Given the description of an element on the screen output the (x, y) to click on. 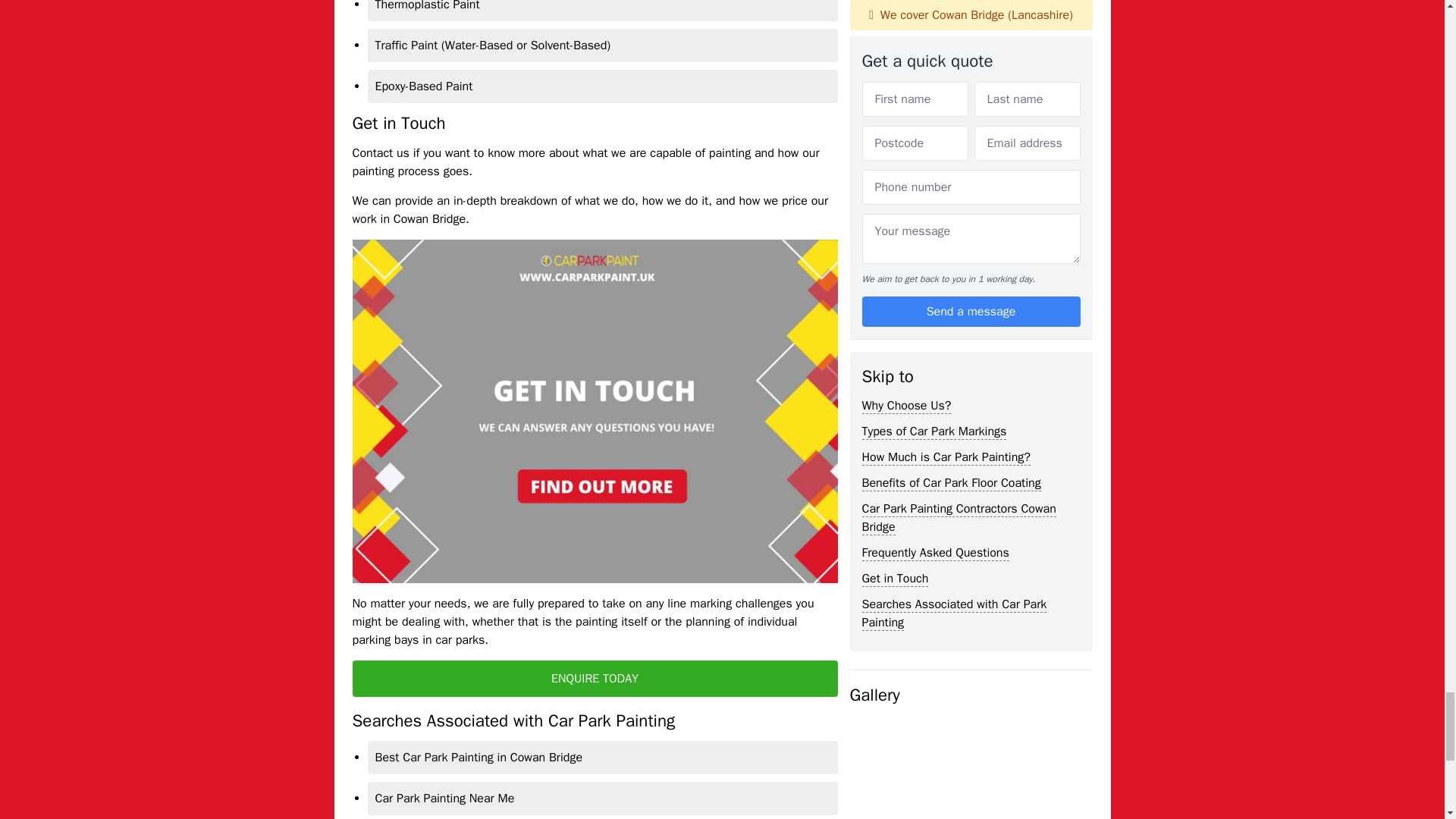
ENQUIRE TODAY (594, 678)
